Given the description of an element on the screen output the (x, y) to click on. 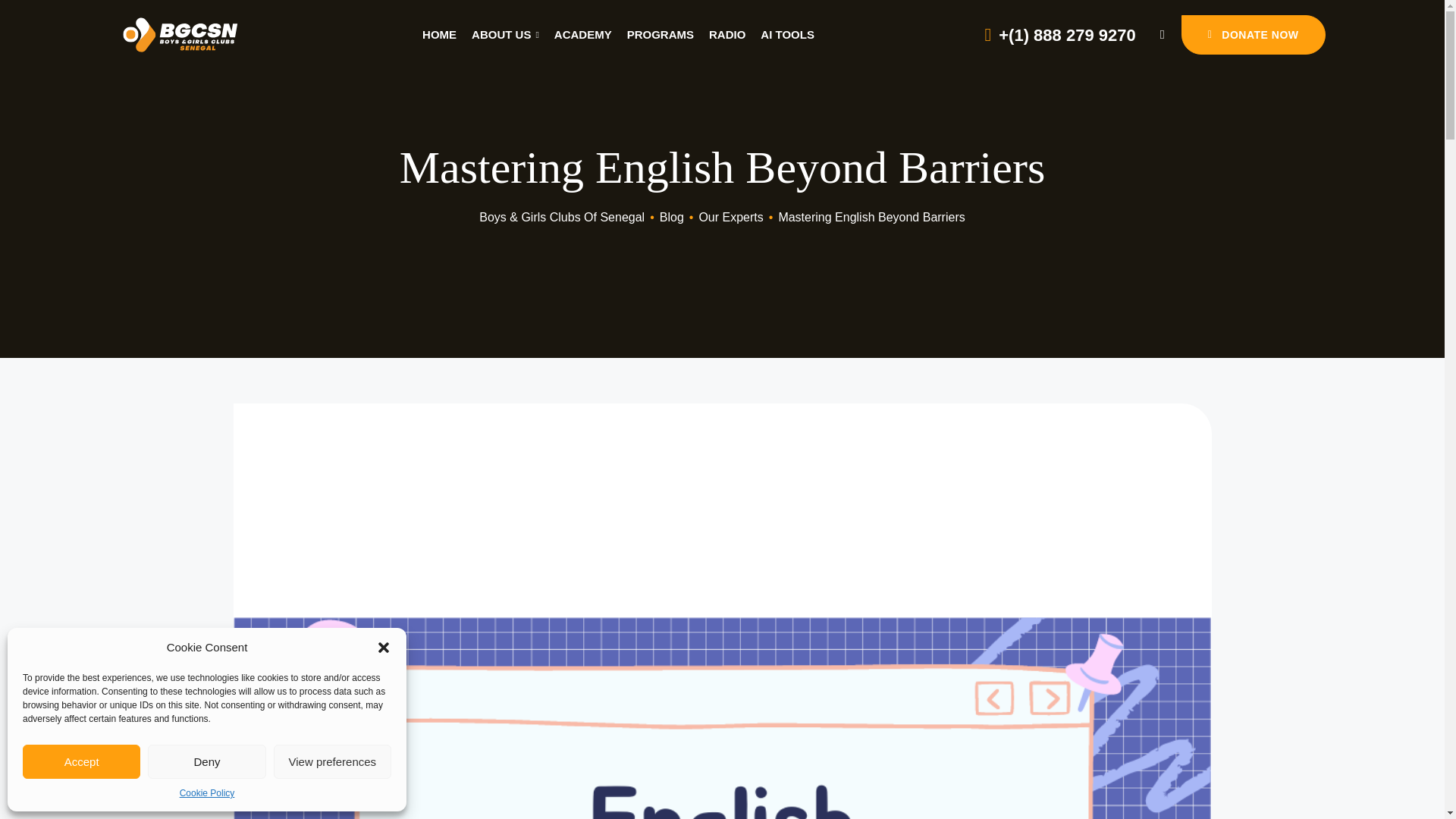
AI TOOLS (786, 34)
Accept (81, 761)
ABOUT US (504, 34)
Go to the Our Experts category archives. (730, 216)
Cookie Policy (206, 793)
PROGRAMS (660, 34)
Go to Blog. (671, 216)
RADIO (727, 34)
View preferences (332, 761)
Deny (206, 761)
ACADEMY (582, 34)
